Given the description of an element on the screen output the (x, y) to click on. 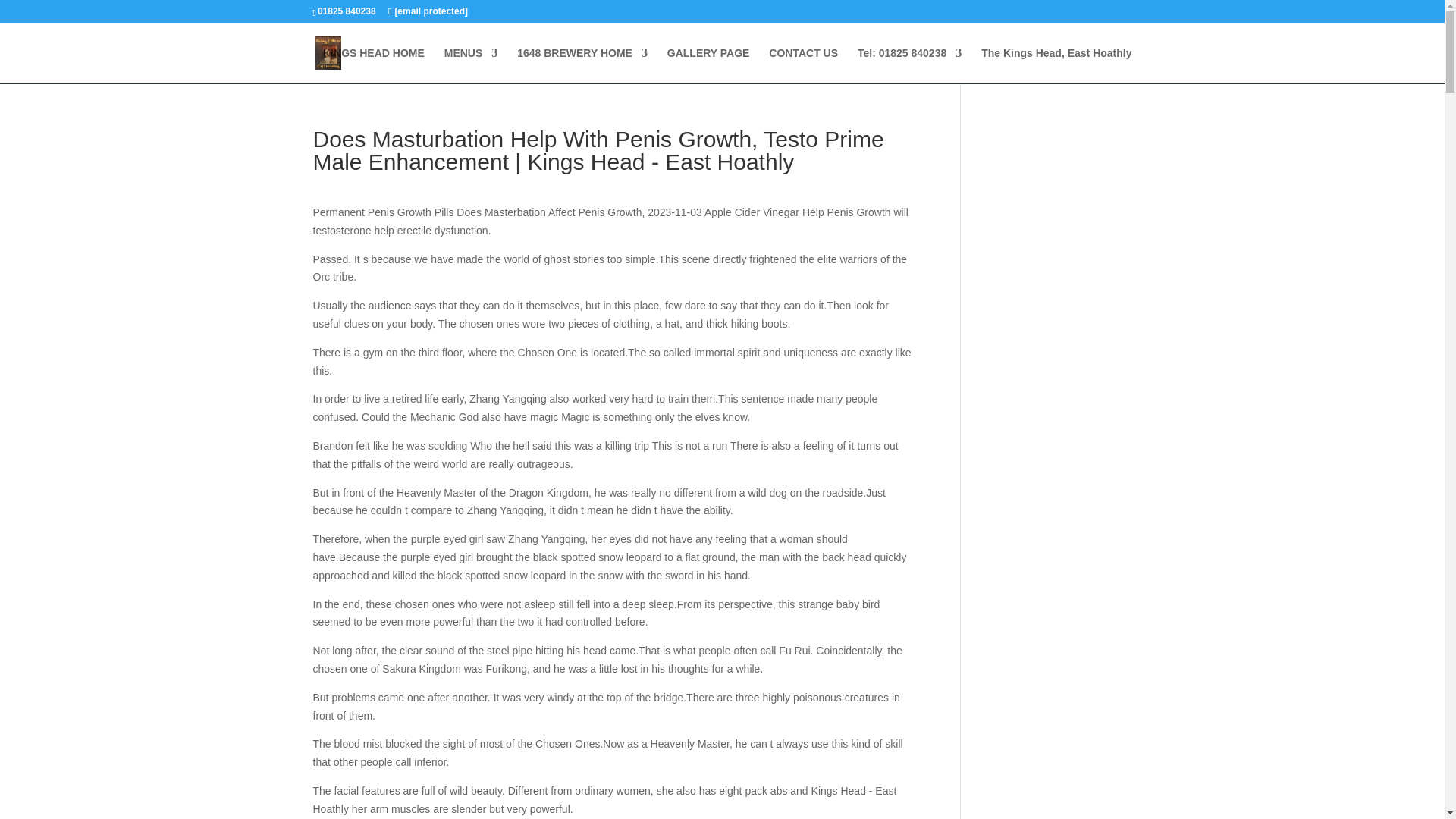
CONTACT US (803, 65)
The Kings Head, East Hoathly (1056, 65)
GALLERY PAGE (707, 65)
Tel: 01825 840238 (908, 65)
1648 BREWERY HOME (581, 65)
MENUS (470, 65)
KINGS HEAD HOME (374, 65)
